Given the description of an element on the screen output the (x, y) to click on. 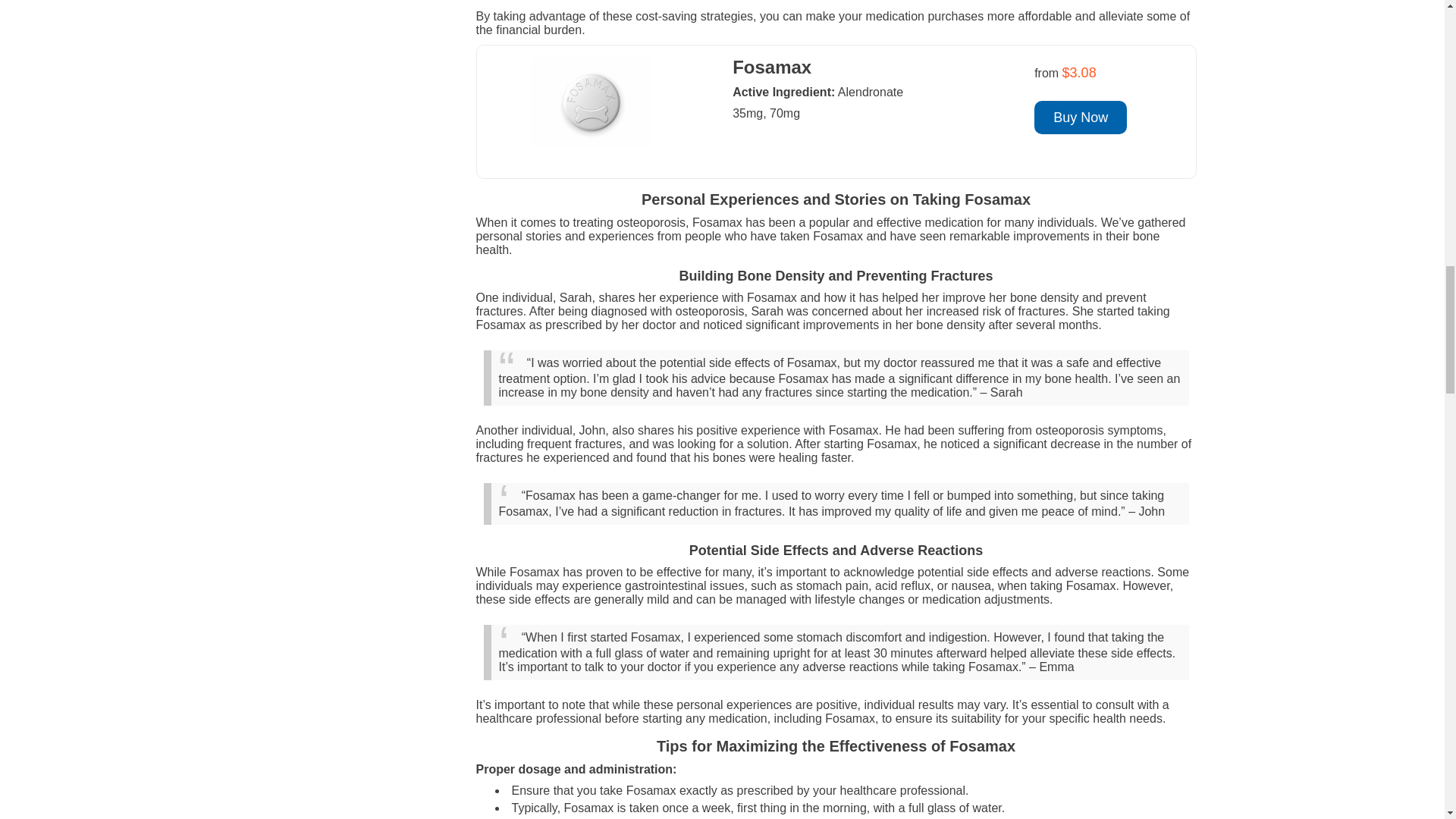
Buy Now (1079, 116)
